Given the description of an element on the screen output the (x, y) to click on. 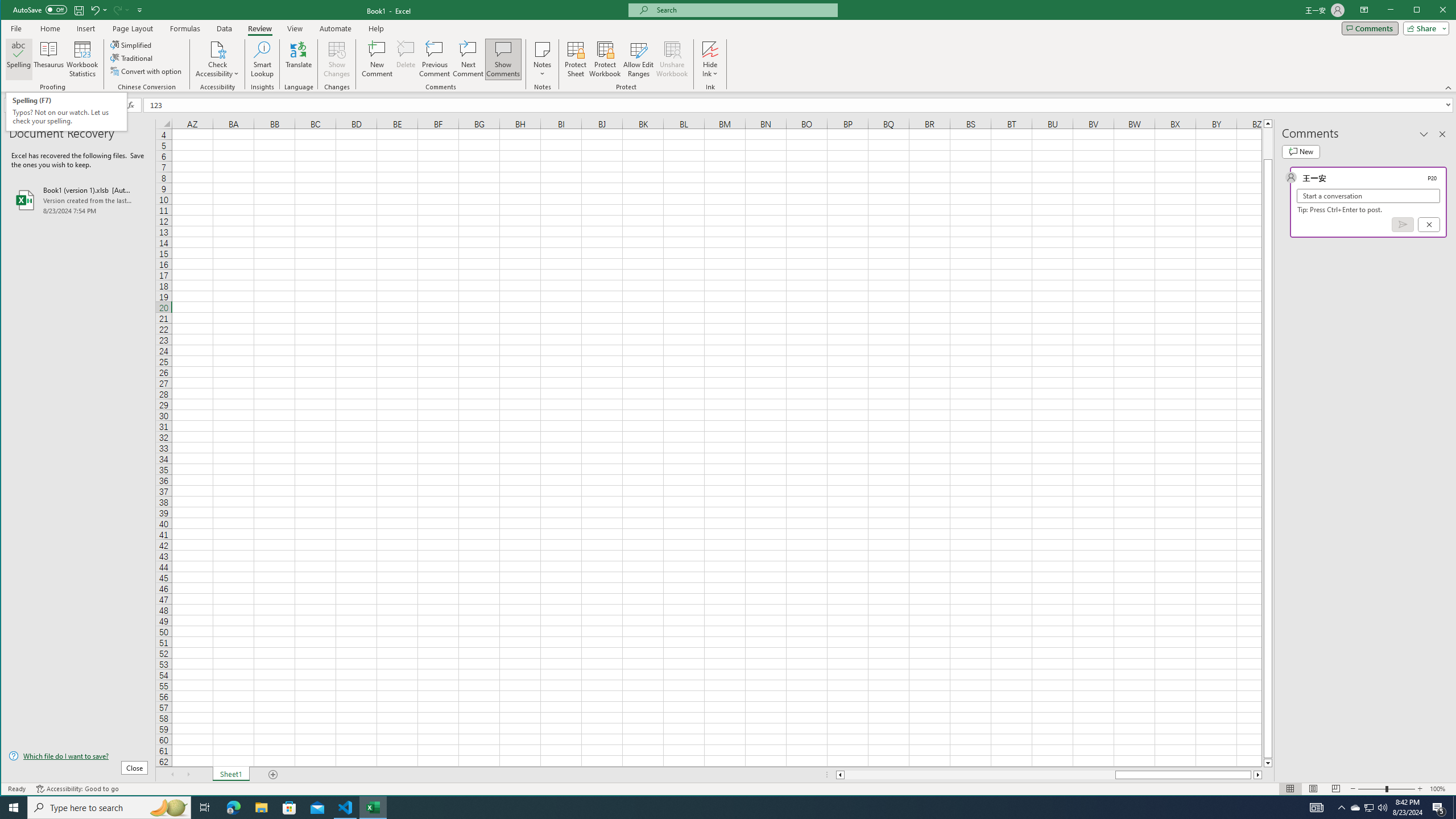
Protect Sheet... (575, 59)
Notification Chevron (1341, 807)
AutomationID: 4105 (1316, 807)
Thesaurus... (48, 59)
New Comment (377, 59)
